Given the description of an element on the screen output the (x, y) to click on. 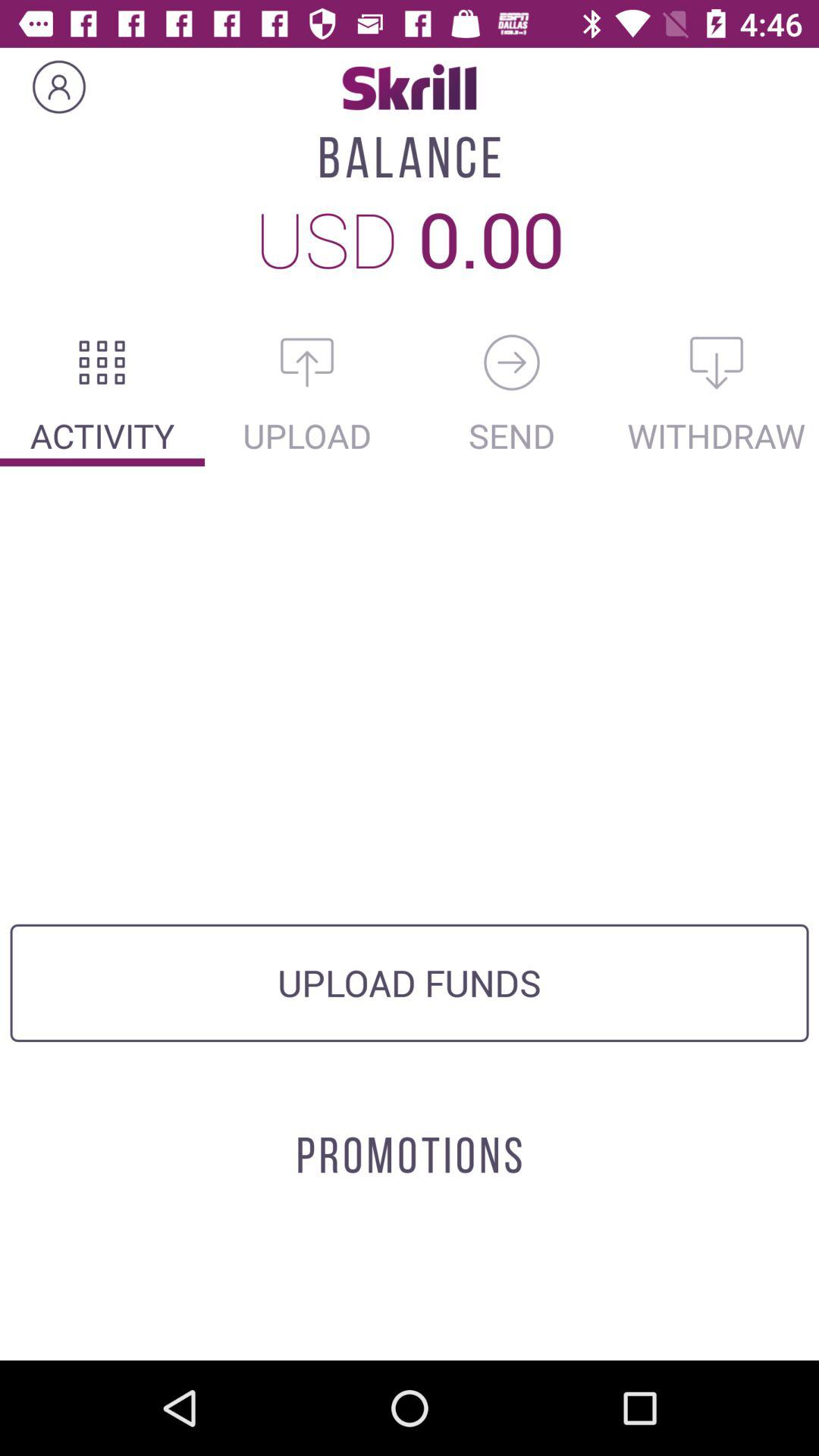
send (511, 362)
